Given the description of an element on the screen output the (x, y) to click on. 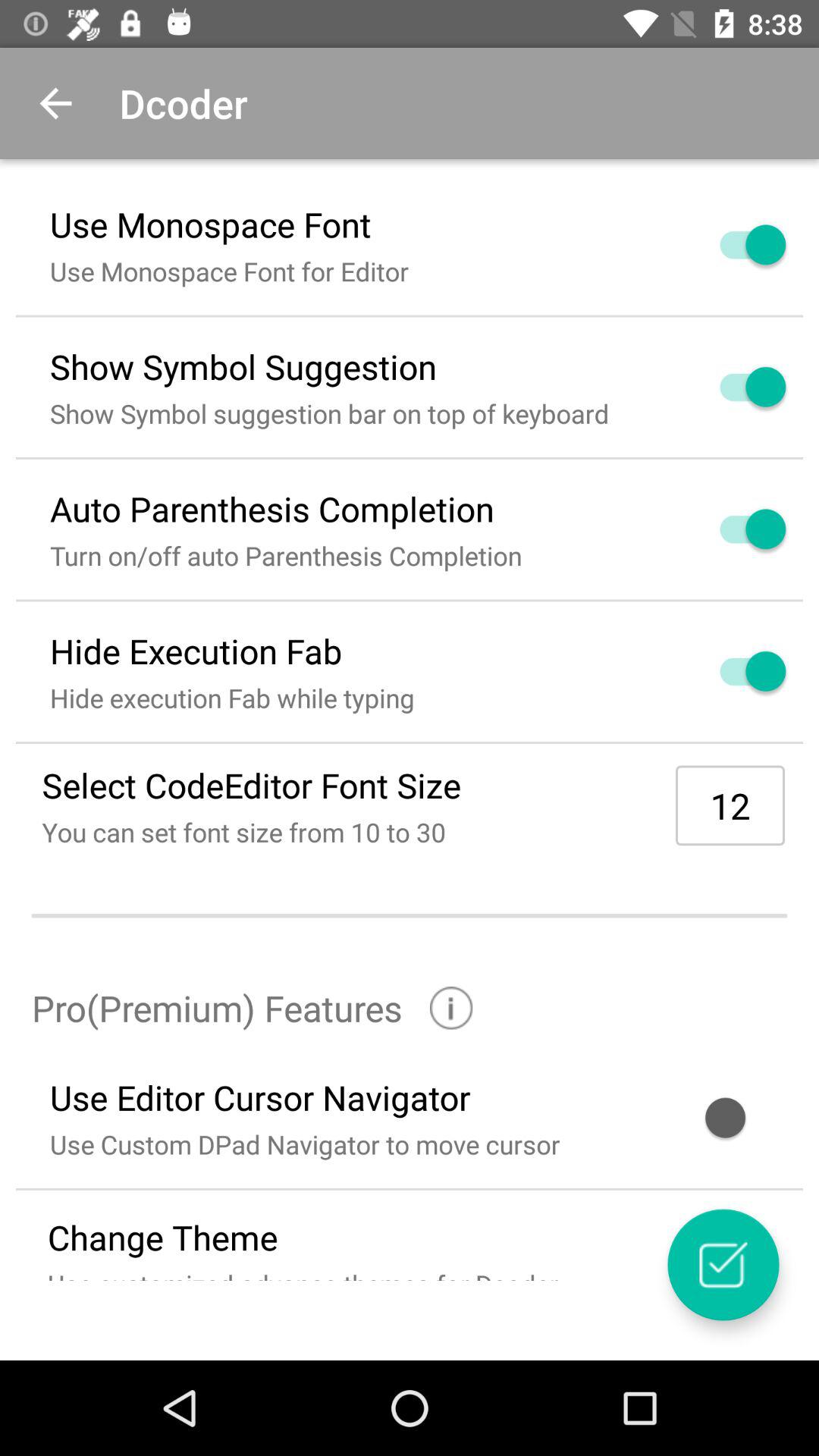
switch autoplay option (734, 529)
